Given the description of an element on the screen output the (x, y) to click on. 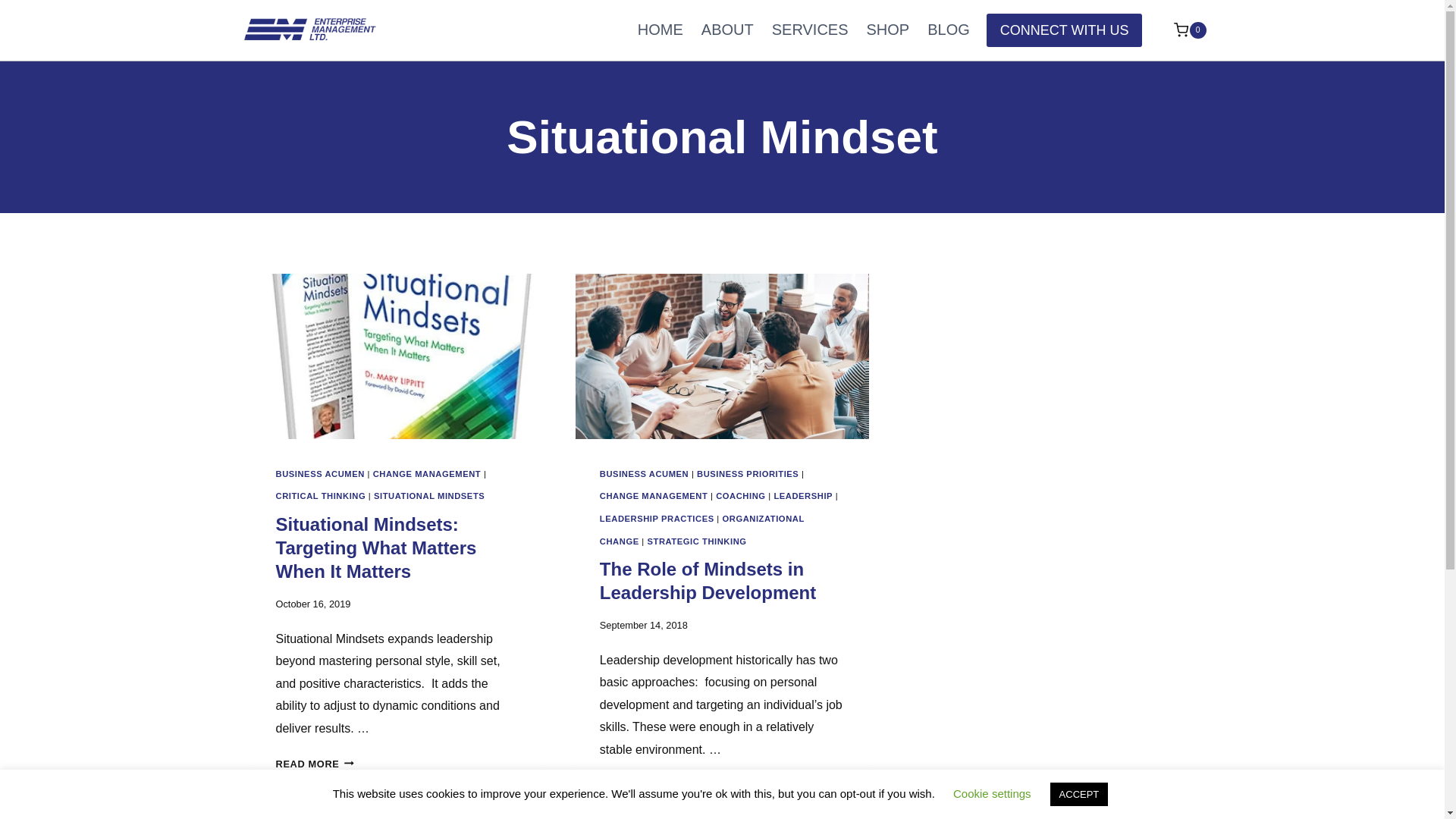
CONNECT WITH US (1064, 29)
HOME (660, 29)
SHOP (887, 29)
BUSINESS ACUMEN (320, 473)
ABOUT (727, 29)
ACCEPT (1078, 793)
SITUATIONAL MINDSETS (429, 495)
Situational Mindsets: Targeting What Matters When It Matters (376, 547)
CHANGE MANAGEMENT (653, 495)
The Role of Mindsets in Leadership Development (707, 580)
LEADERSHIP (802, 495)
CHANGE MANAGEMENT (426, 473)
BLOG (948, 29)
STRATEGIC THINKING (695, 541)
LEADERSHIP PRACTICES (656, 518)
